Given the description of an element on the screen output the (x, y) to click on. 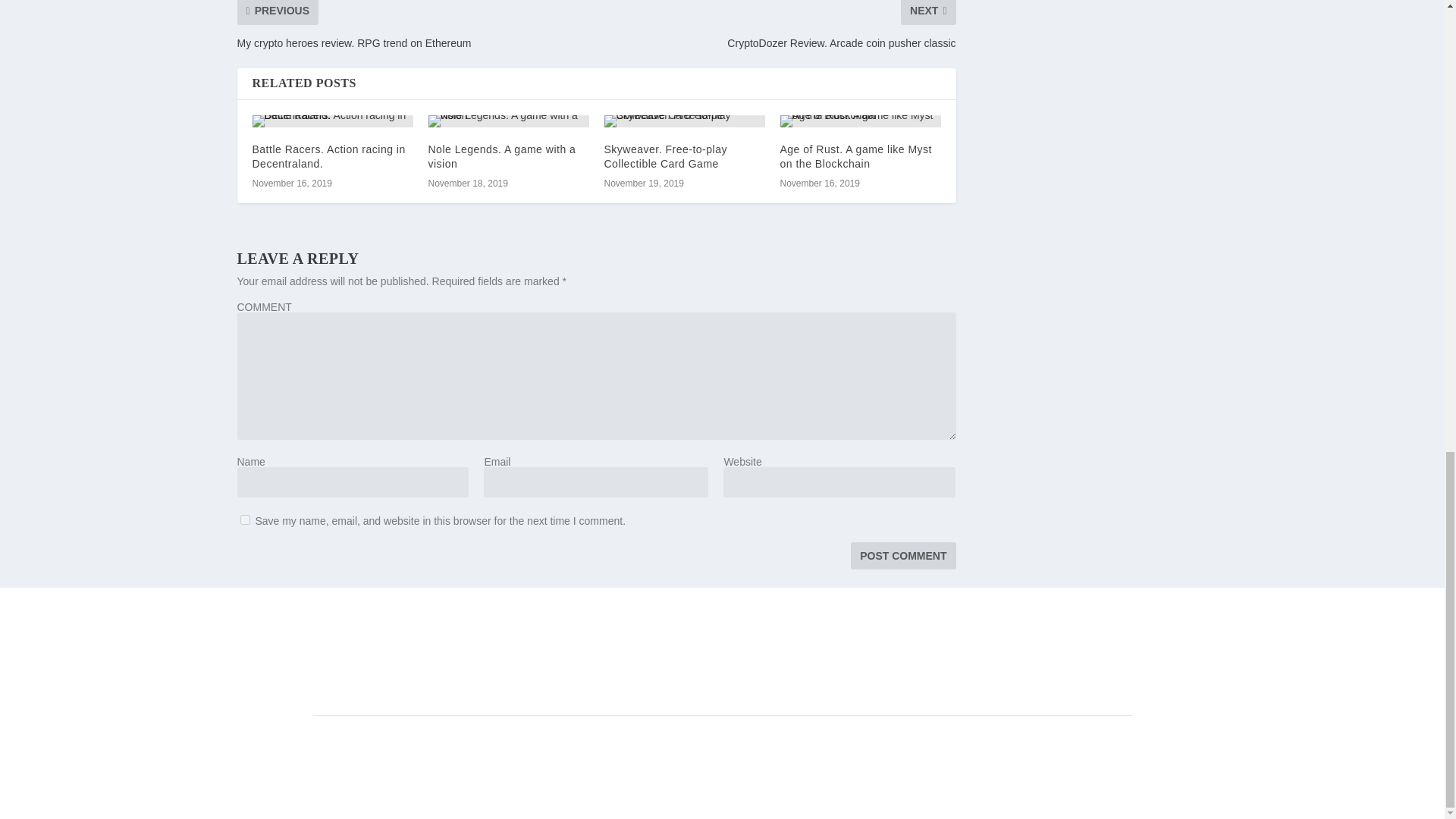
Nole Legends. A game with a vision (501, 156)
yes (244, 519)
ABOUT US (540, 682)
Battle Racers. Action racing in Decentraland. (331, 121)
Age of Rust. A game like Myst on the Blockchain (854, 156)
Skyweaver. Free-to-play Collectible Card Game (665, 156)
Nole Legends. A game with a vision (508, 121)
Skyweaver. Free-to-play Collectible Card Game (684, 121)
Post Comment (902, 555)
Battle Racers. Action racing in Decentraland. (327, 156)
PRIVACY POLICY (784, 682)
Age of Rust. A game like Myst on the Blockchain (859, 121)
Post Comment (902, 555)
